Given the description of an element on the screen output the (x, y) to click on. 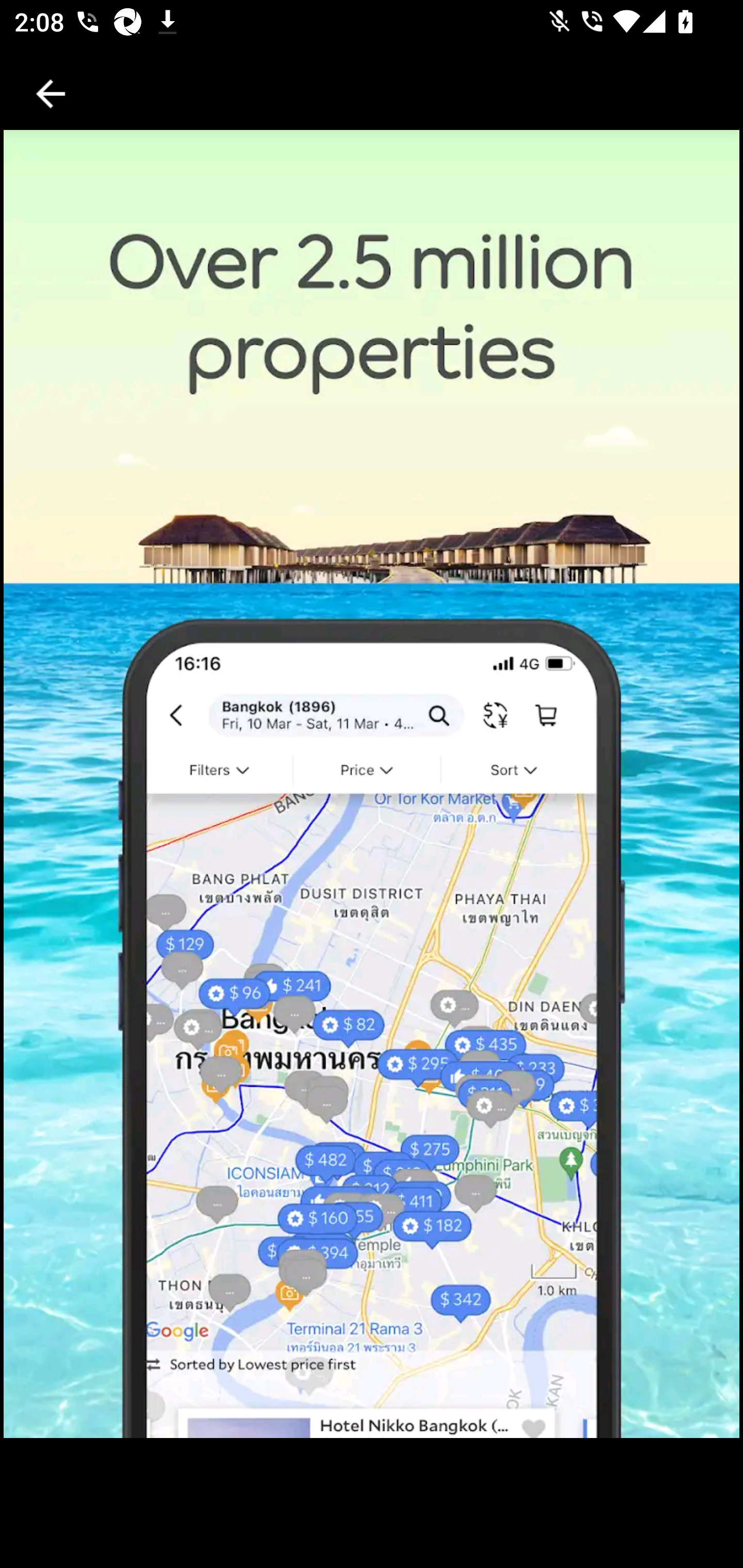
Back (50, 93)
